Given the description of an element on the screen output the (x, y) to click on. 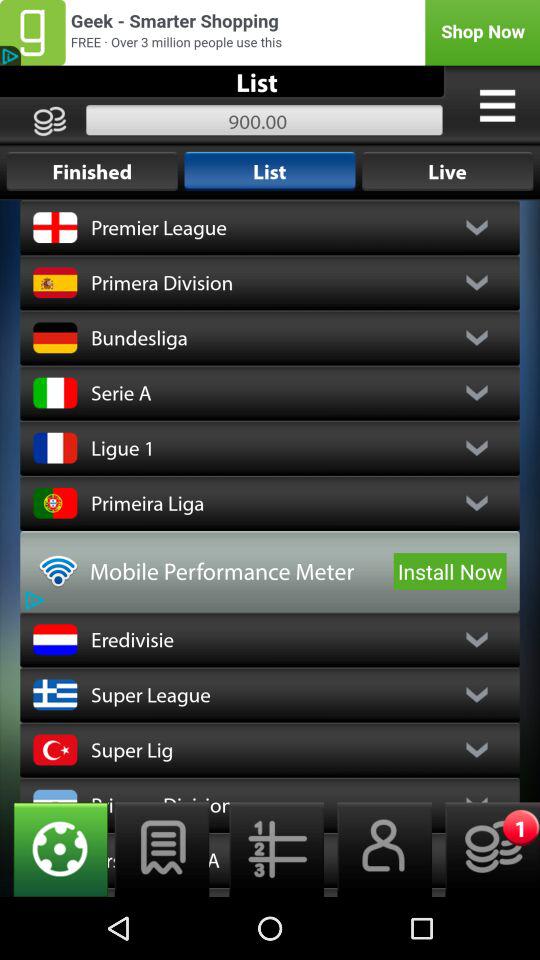
turn off item below the  primeira liga icon (449, 571)
